Given the description of an element on the screen output the (x, y) to click on. 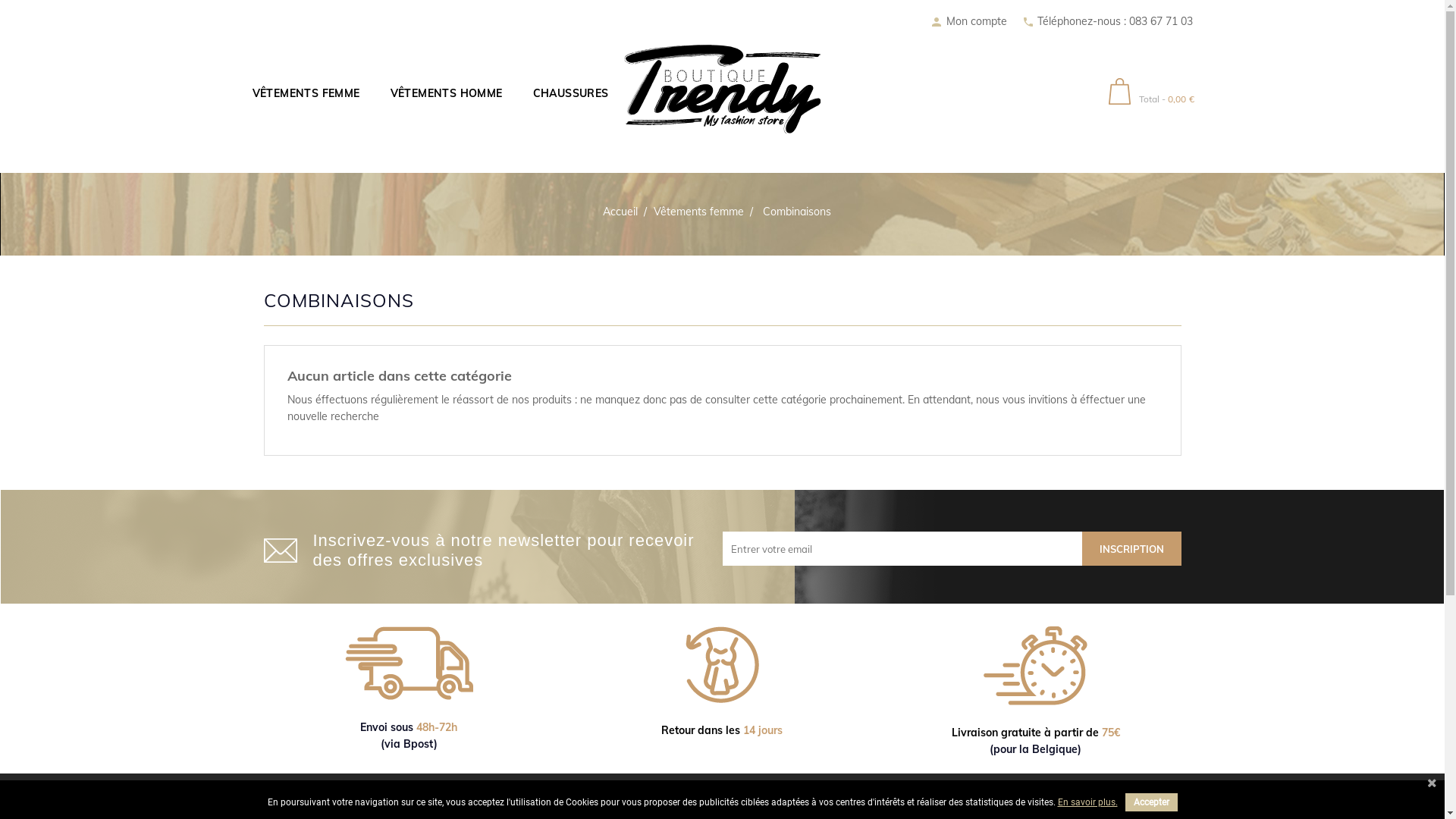
CHAUSSURES Element type: text (570, 92)
Blouses Element type: text (442, 154)
T-Shirts Element type: text (444, 154)
Combinaisons Element type: text (796, 211)
Inscription Element type: text (1130, 548)
Tops & T-Shirts Element type: text (321, 154)
En savoir plus. Element type: text (1087, 801)
Sweats Element type: text (686, 154)
Accueil Element type: text (621, 211)
Bodys Element type: text (564, 154)
Accepter Element type: text (1151, 802)
Pulls Element type: text (565, 154)
